Given the description of an element on the screen output the (x, y) to click on. 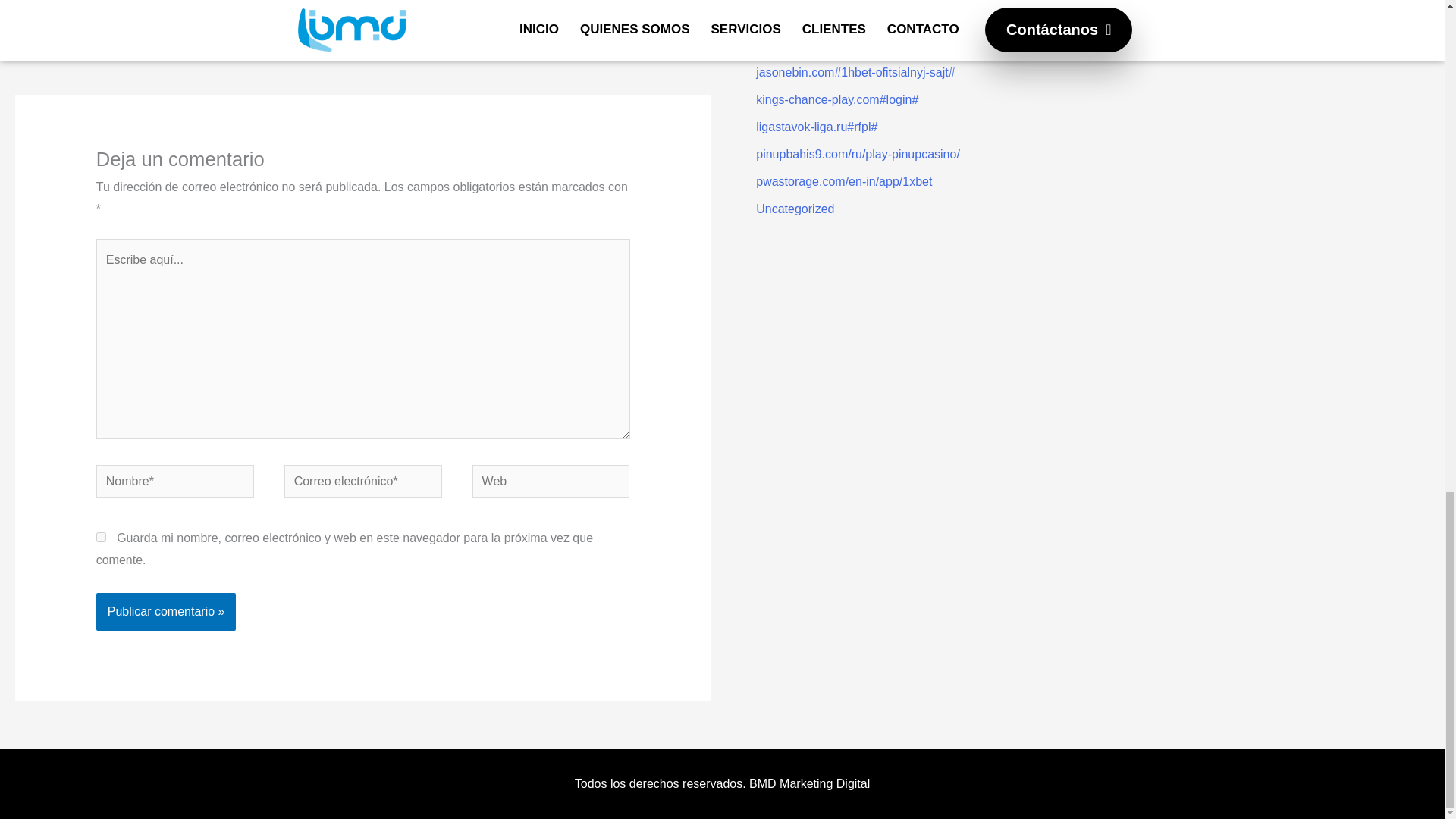
yes (101, 537)
